Given the description of an element on the screen output the (x, y) to click on. 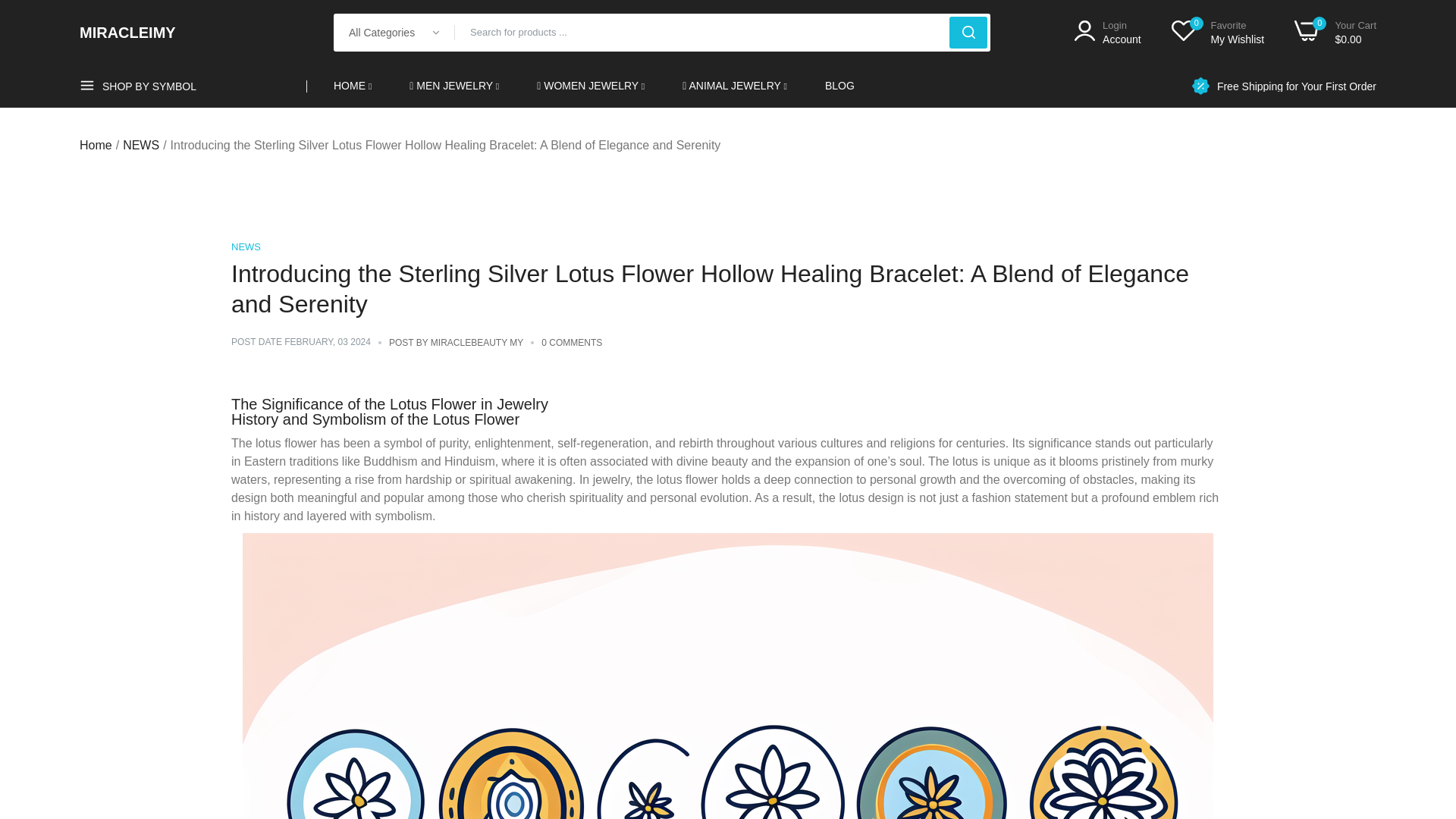
MEN JEWELRY (454, 86)
Your Cart (1334, 31)
NEWS (245, 246)
MIRACLEIMY (128, 31)
Home (96, 145)
ANIMAL JEWELRY (1296, 85)
NEWS (140, 145)
My Wishlist (1218, 31)
ANIMAL JEWELRY (1107, 31)
HOME (1218, 31)
Login (734, 86)
